Given the description of an element on the screen output the (x, y) to click on. 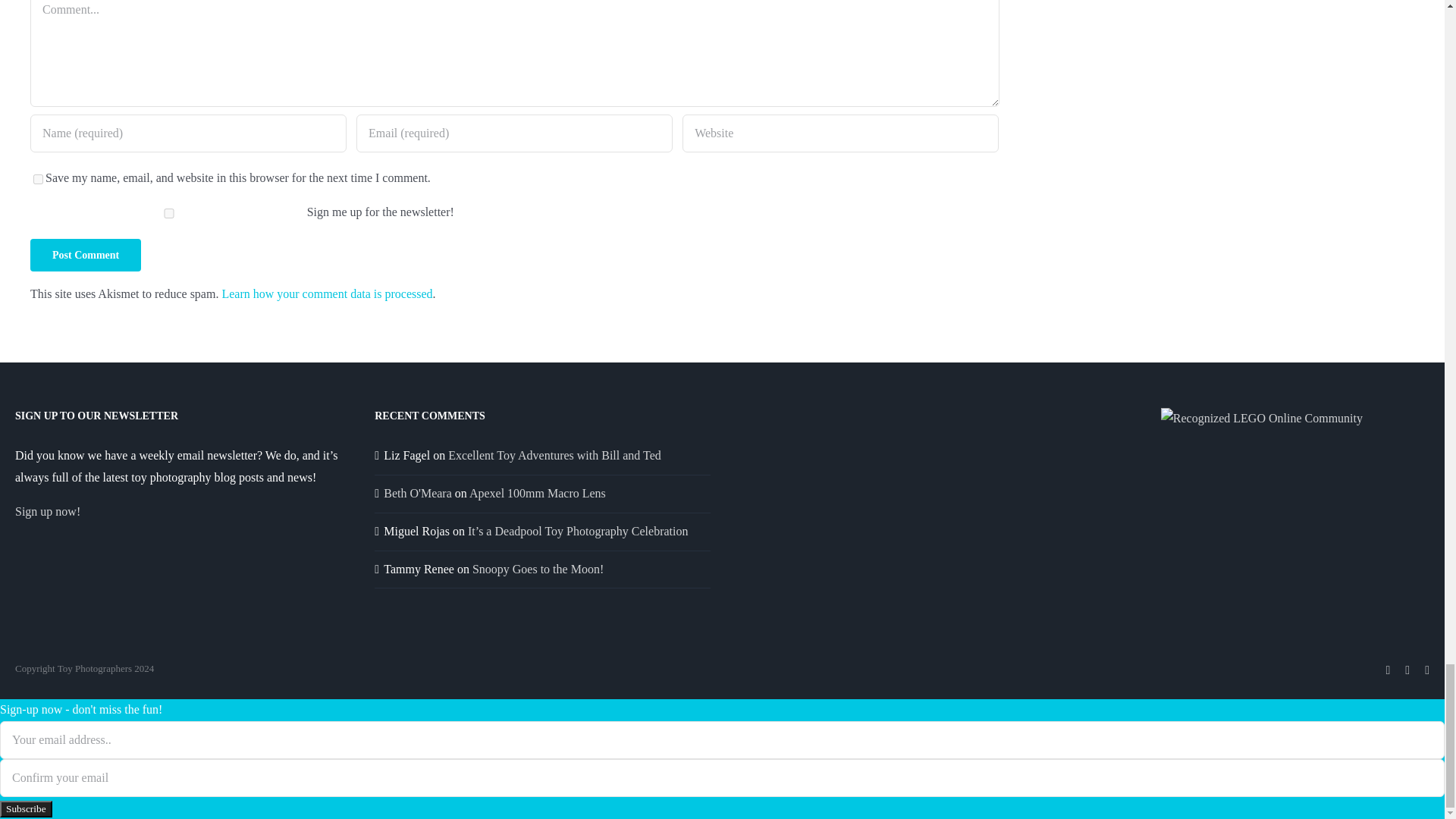
yes (38, 179)
Subscribe (26, 808)
1 (168, 213)
Post Comment (85, 254)
